Given the description of an element on the screen output the (x, y) to click on. 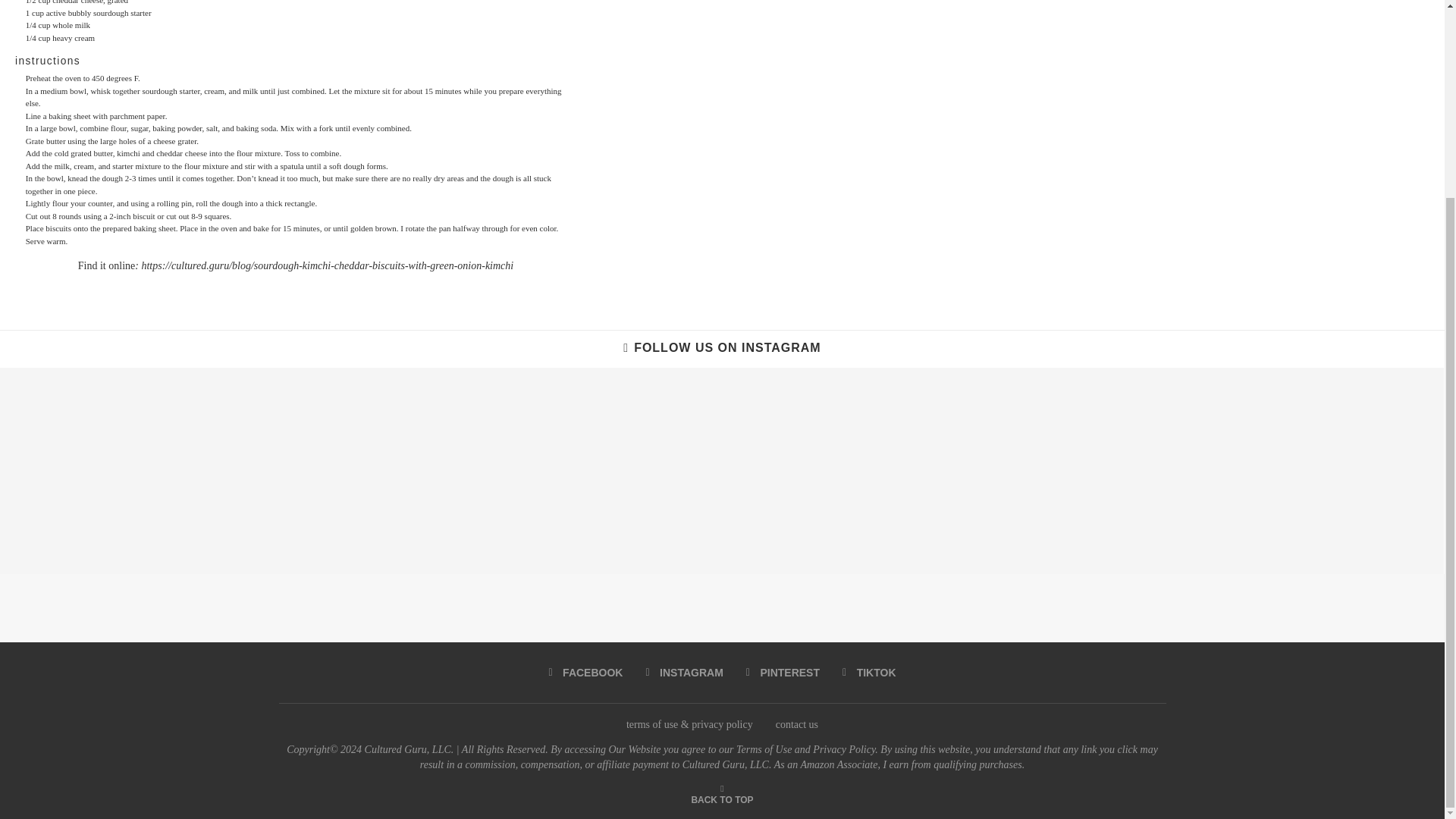
FACEBOOK (585, 672)
PINTEREST (782, 672)
TIKTOK (869, 672)
contact us (797, 724)
INSTAGRAM (683, 672)
BACK TO TOP (721, 799)
